Given the description of an element on the screen output the (x, y) to click on. 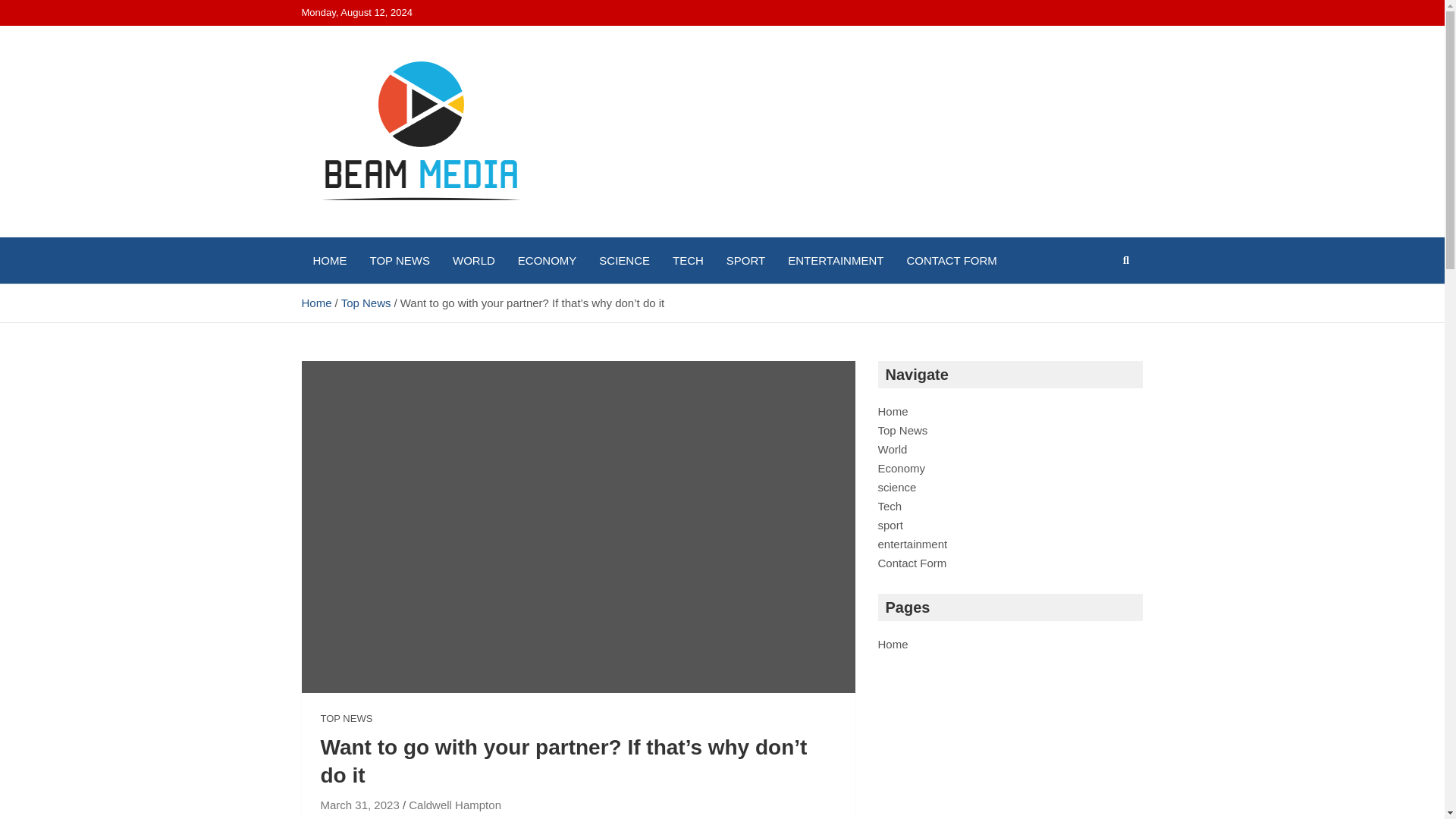
Home (892, 644)
CONTACT FORM (951, 260)
Home (316, 302)
Home (892, 410)
World (892, 449)
Tech (889, 505)
SCIENCE (624, 260)
ECONOMY (547, 260)
BEAM Media (392, 233)
TOP NEWS (346, 718)
